Given the description of an element on the screen output the (x, y) to click on. 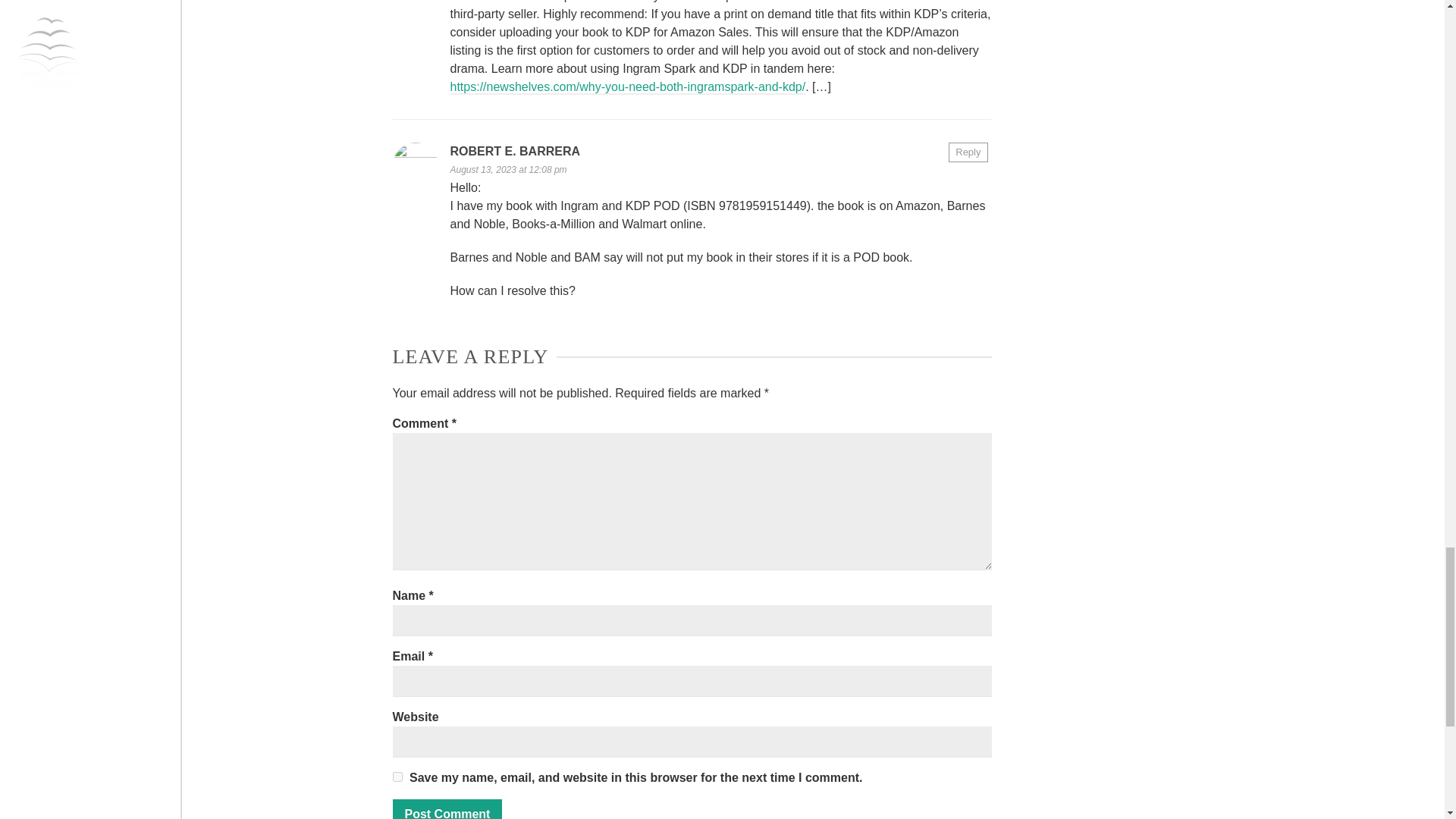
yes (398, 777)
Post Comment (447, 809)
